Given the description of an element on the screen output the (x, y) to click on. 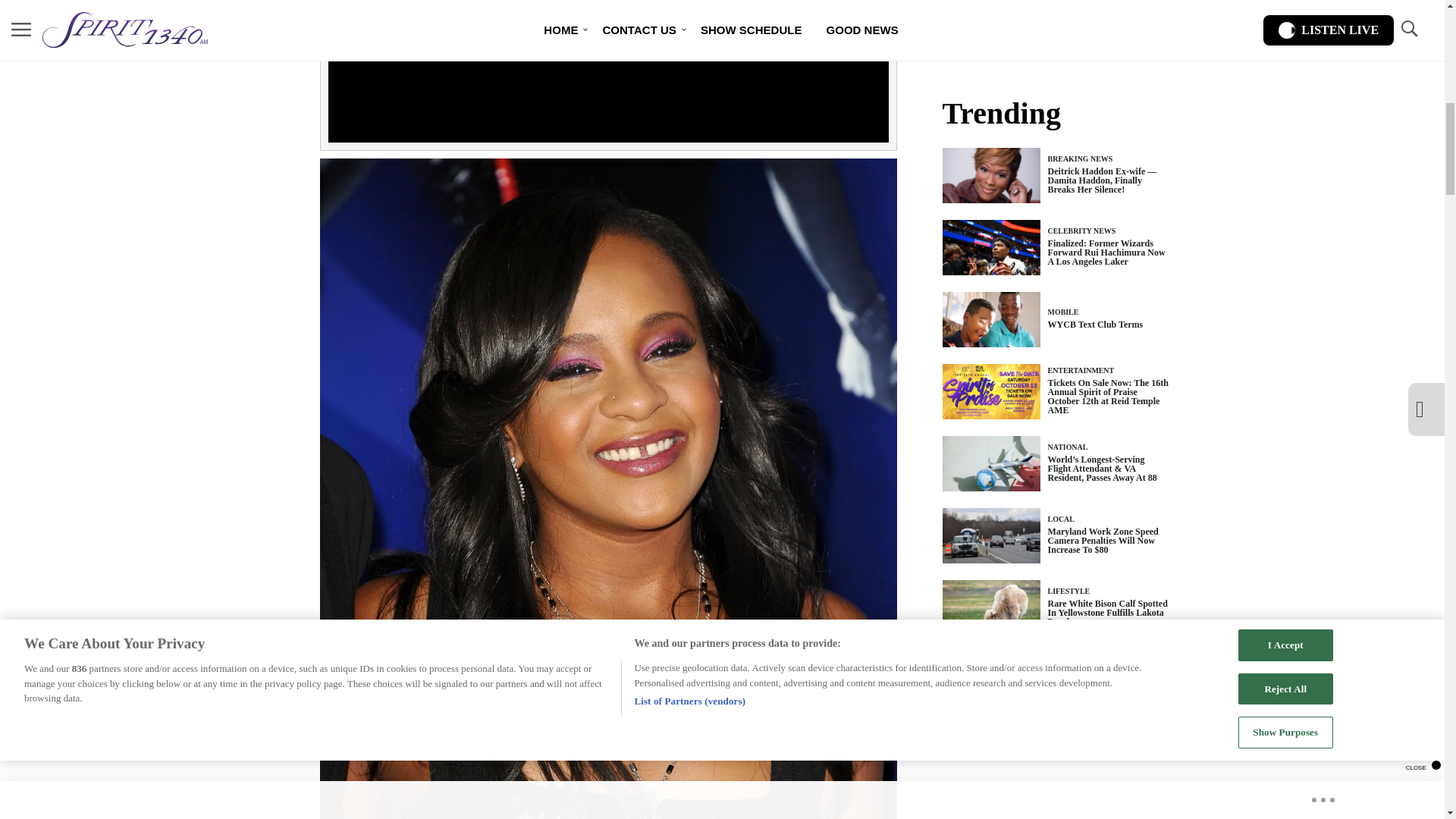
BREAKING NEWS (1080, 158)
CELEBRITY NEWS (1082, 230)
